Given the description of an element on the screen output the (x, y) to click on. 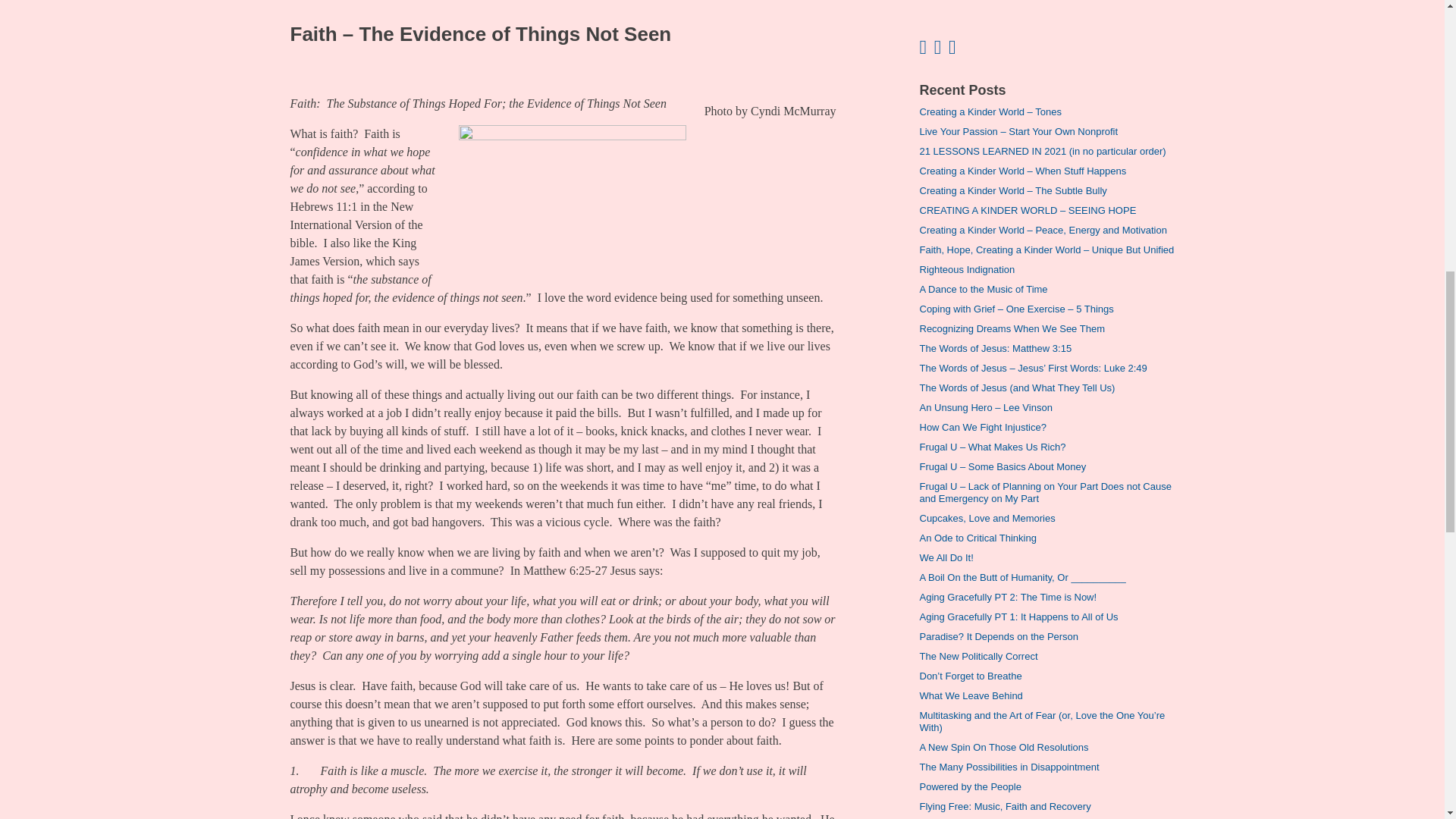
Aging Gracefully PT 2: The Time is Now! (1007, 596)
Cupcakes, Love and Memories (986, 518)
A Dance to the Music of Time (982, 288)
We All Do It! (945, 557)
An Ode to Critical Thinking (976, 537)
Righteous Indignation (966, 269)
How Can We Fight Injustice? (981, 427)
The Words of Jesus: Matthew 3:15 (994, 348)
Recognizing Dreams When We See Them (1010, 328)
